Given the description of an element on the screen output the (x, y) to click on. 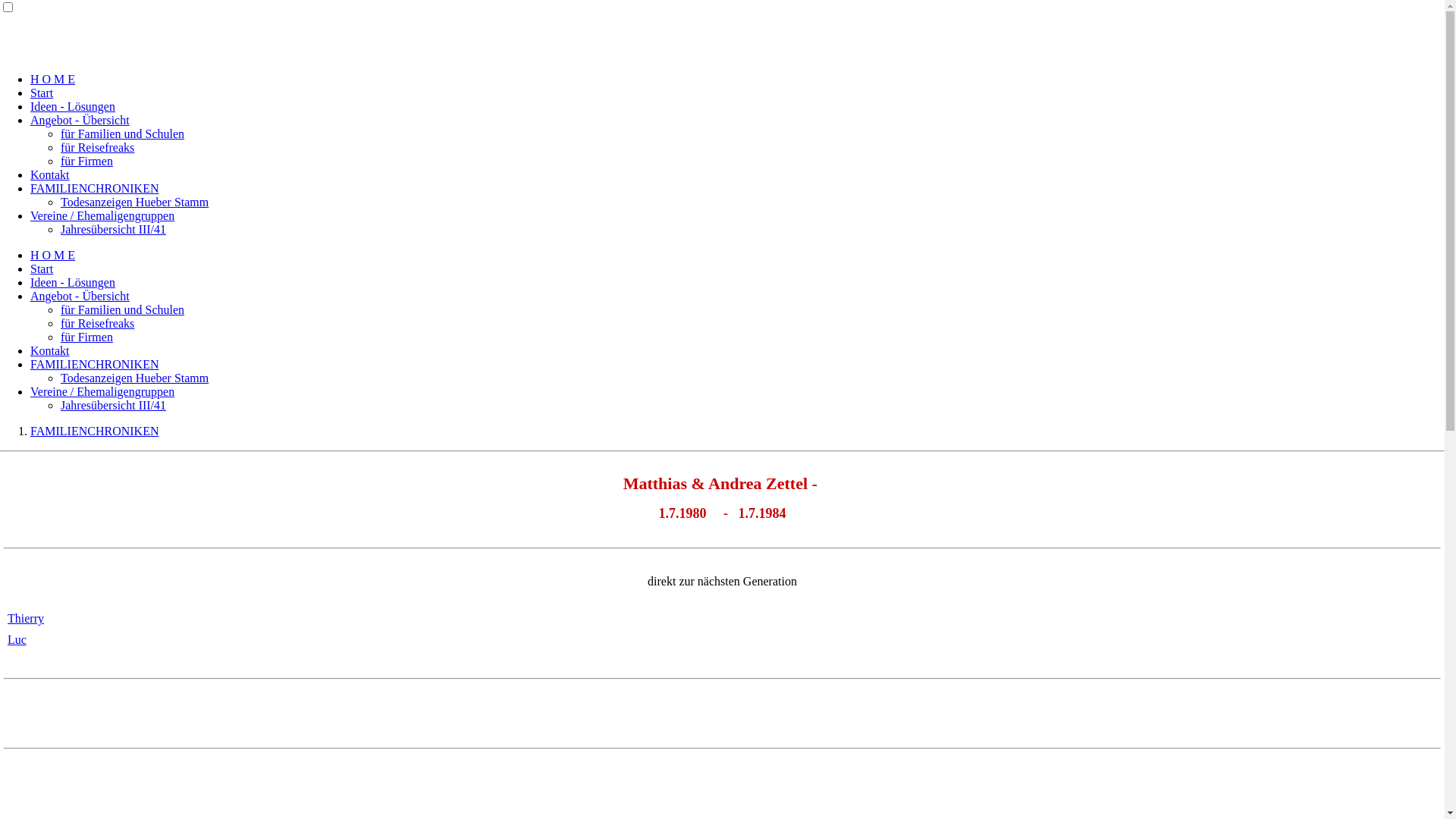
Kontakt Element type: text (49, 350)
Luc Element type: text (16, 639)
Start Element type: text (41, 268)
H O M E Element type: text (52, 78)
Todesanzeigen Hueber Stamm Element type: text (134, 201)
Thierry Element type: text (25, 617)
Kontakt Element type: text (49, 174)
H O M E Element type: text (52, 254)
Vereine / Ehemaligengruppen Element type: text (102, 391)
Vereine / Ehemaligengruppen Element type: text (102, 215)
FAMILIENCHRONIKEN Element type: text (94, 430)
FAMILIENCHRONIKEN Element type: text (94, 363)
Start Element type: text (41, 92)
FAMILIENCHRONIKEN Element type: text (94, 188)
Todesanzeigen Hueber Stamm Element type: text (134, 377)
